Given the description of an element on the screen output the (x, y) to click on. 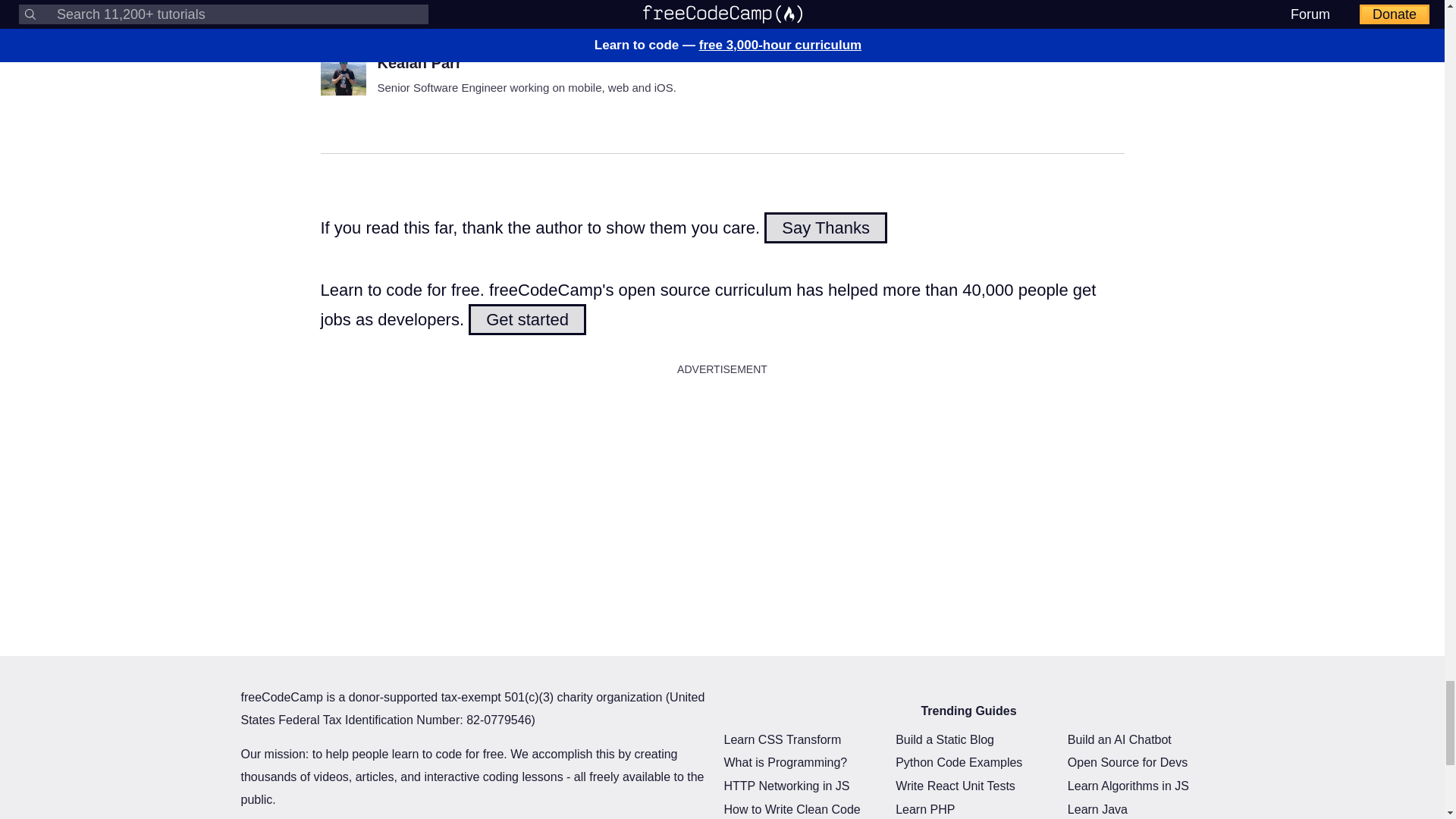
HTTP Networking in JS (786, 785)
Write React Unit Tests (954, 785)
Learn CSS Transform (782, 739)
What is Programming? (785, 762)
Build a Static Blog (944, 739)
How to Write Clean Code (791, 809)
Learn Java (1097, 809)
Kealan Parr (419, 62)
Learn PHP (924, 809)
Python Code Examples (958, 762)
Get started (527, 318)
Build an AI Chatbot (1119, 739)
Open Source for Devs (1127, 762)
Say Thanks (825, 227)
Learn Algorithms in JS (1128, 785)
